Given the description of an element on the screen output the (x, y) to click on. 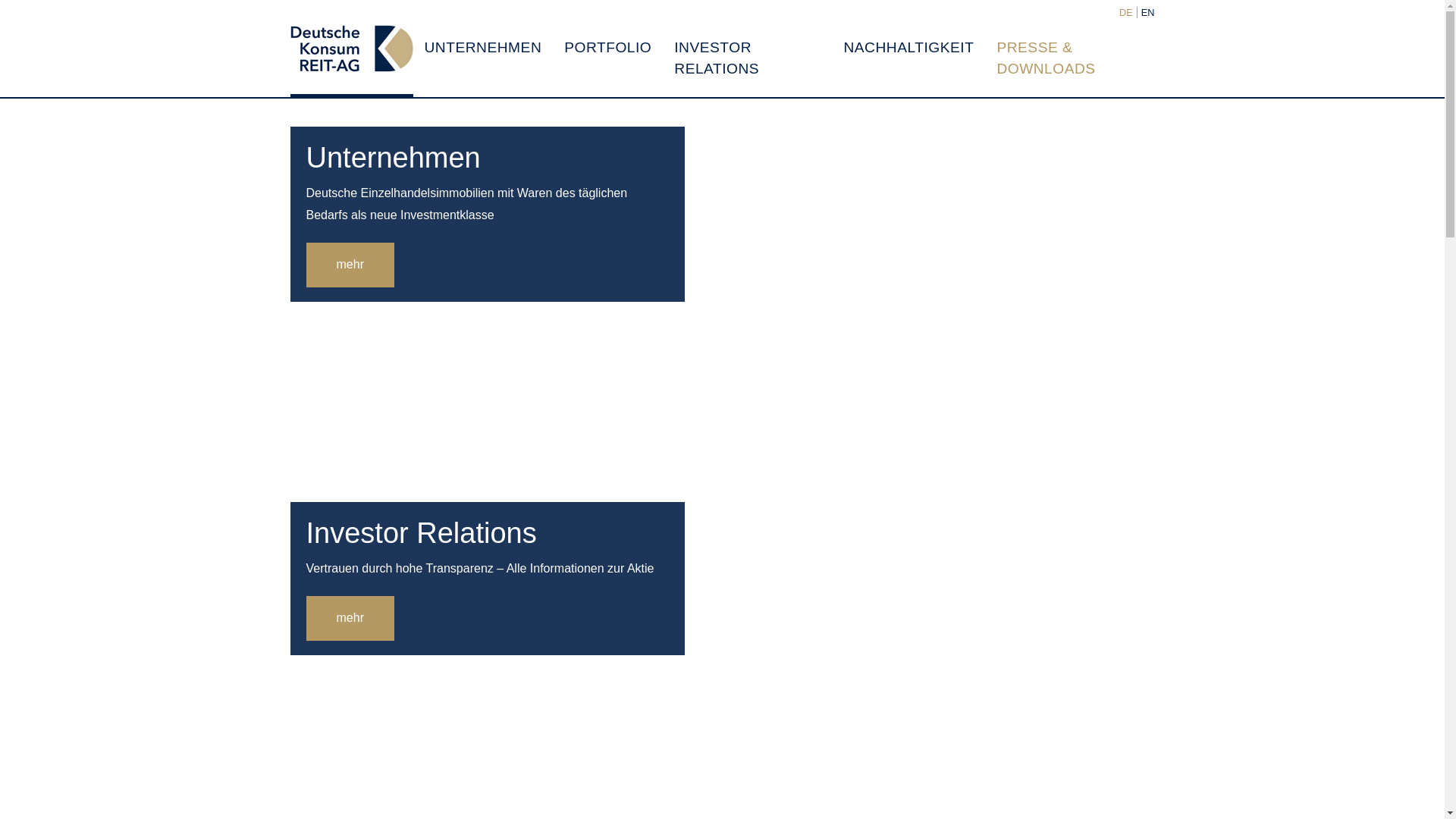
Logo (350, 48)
Investor Relations der Deutsche Konsum REIT-AG (746, 57)
PORTFOLIO (607, 46)
mehr (349, 618)
NACHHALTIGKEIT (908, 46)
Das Immobilienunternehmen Deutsche Konsum REIT-AG (482, 46)
INVESTOR RELATIONS (746, 57)
Portfolio der Deutsche Konsum REIT-AG (607, 46)
EN (1147, 12)
mehr (349, 264)
Nachhaltigkeit (908, 46)
UNTERNEHMEN (482, 46)
DE (1125, 12)
